Given the description of an element on the screen output the (x, y) to click on. 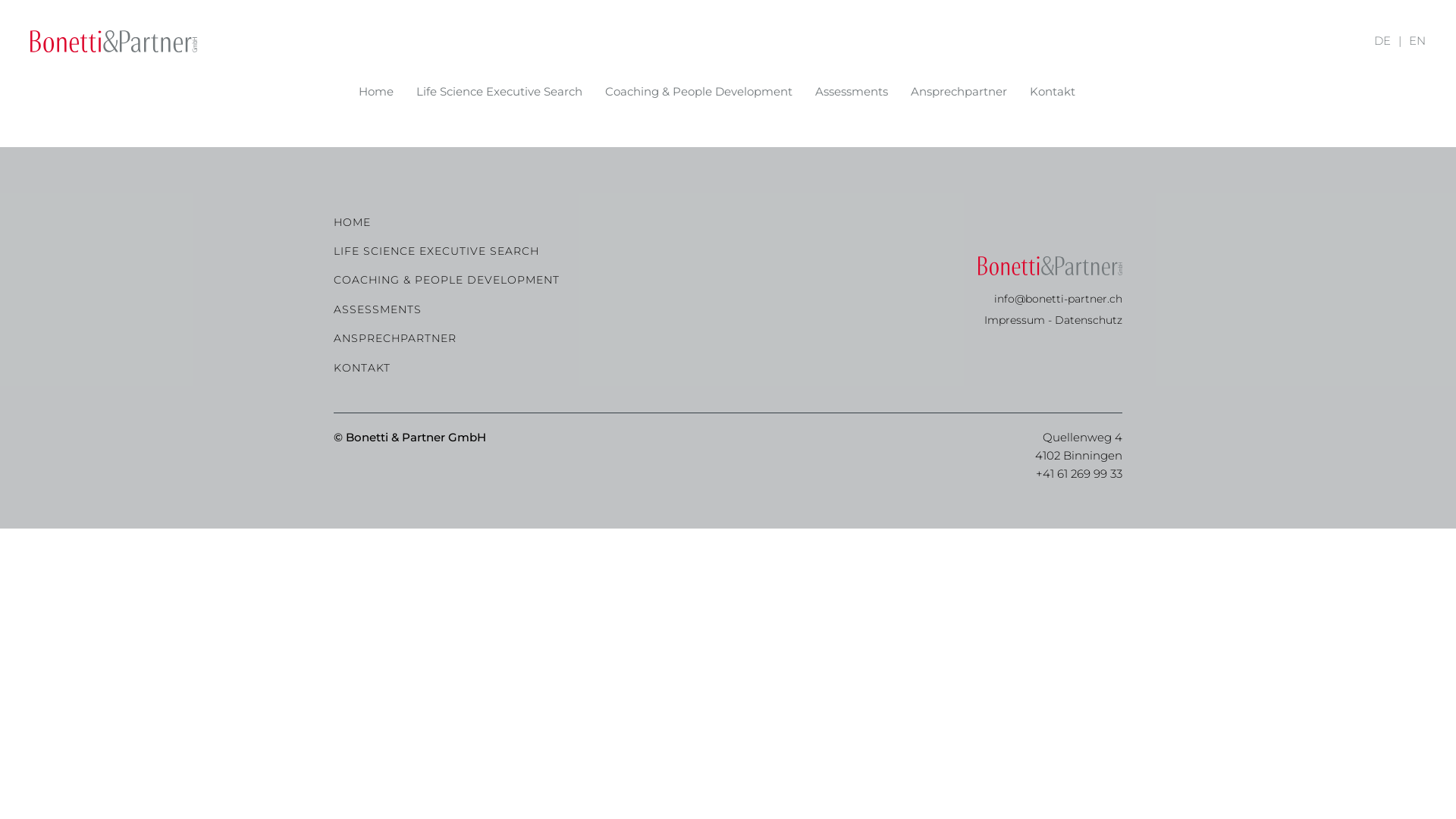
info@bonetti-partner.ch Element type: text (1058, 298)
ANSPRECHPARTNER Element type: text (522, 337)
Assessments Element type: text (850, 91)
DE Element type: text (1382, 40)
LIFE SCIENCE EXECUTIVE SEARCH Element type: text (522, 250)
Coaching & People Development Element type: text (698, 91)
Kontakt Element type: text (1052, 91)
HOME Element type: text (522, 221)
Impressum - Datenschutz Element type: text (1053, 319)
Ansprechpartner Element type: text (958, 91)
Home Element type: text (374, 91)
EN Element type: text (1416, 40)
COACHING & PEOPLE DEVELOPMENT Element type: text (522, 279)
Life Science Executive Search Element type: text (498, 91)
KONTAKT Element type: text (522, 367)
ASSESSMENTS Element type: text (522, 308)
